Given the description of an element on the screen output the (x, y) to click on. 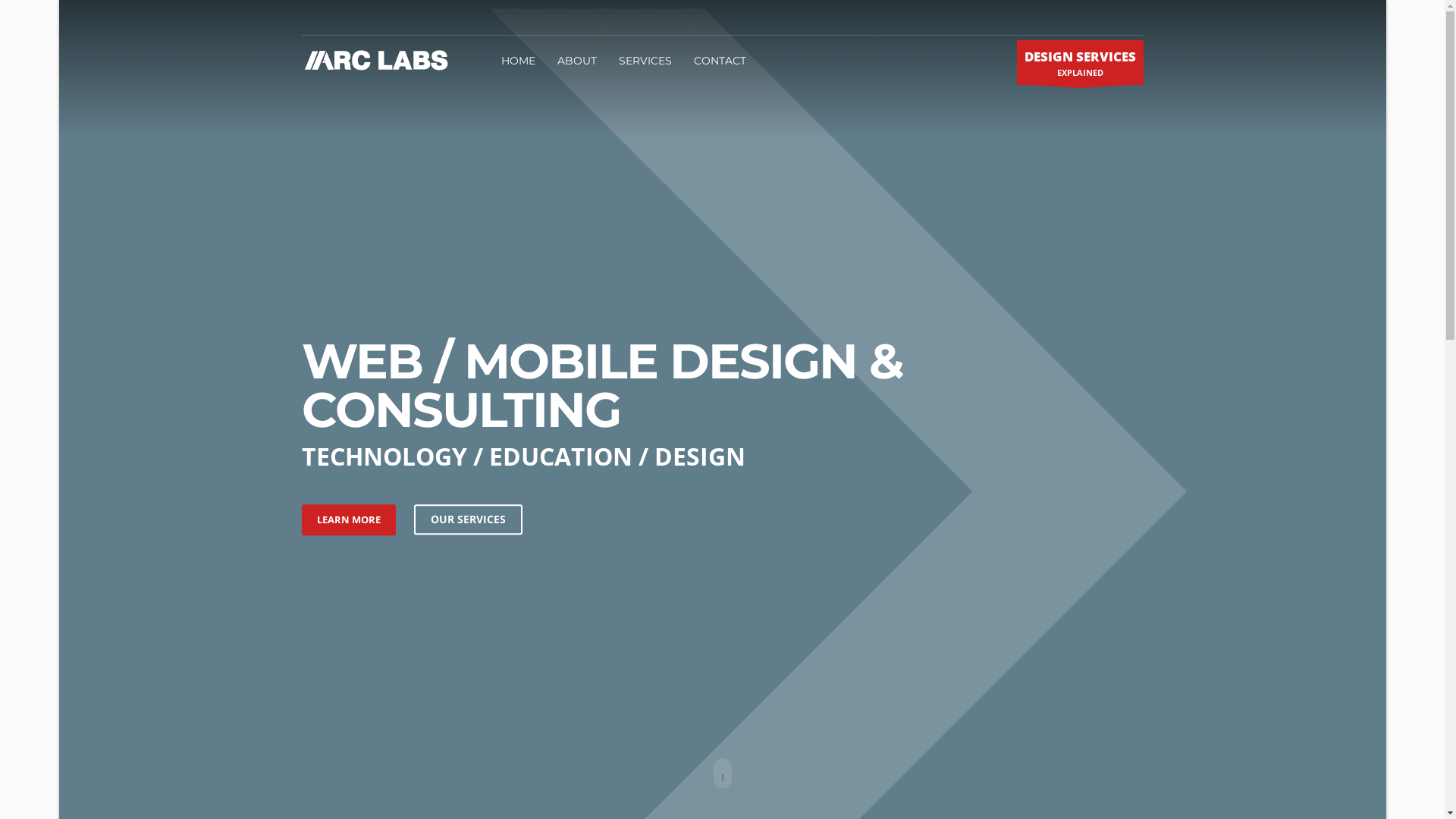
SERVICES Element type: text (644, 60)
ARC Labs Website Development Element type: hover (378, 60)
DESIGN SERVICES
EXPLAINED Element type: text (1079, 62)
OUR SERVICES Element type: text (468, 519)
ABOUT Element type: text (576, 60)
HOME Element type: text (518, 60)
LEARN MORE Element type: text (348, 519)
CONTACT Element type: text (719, 60)
